Given the description of an element on the screen output the (x, y) to click on. 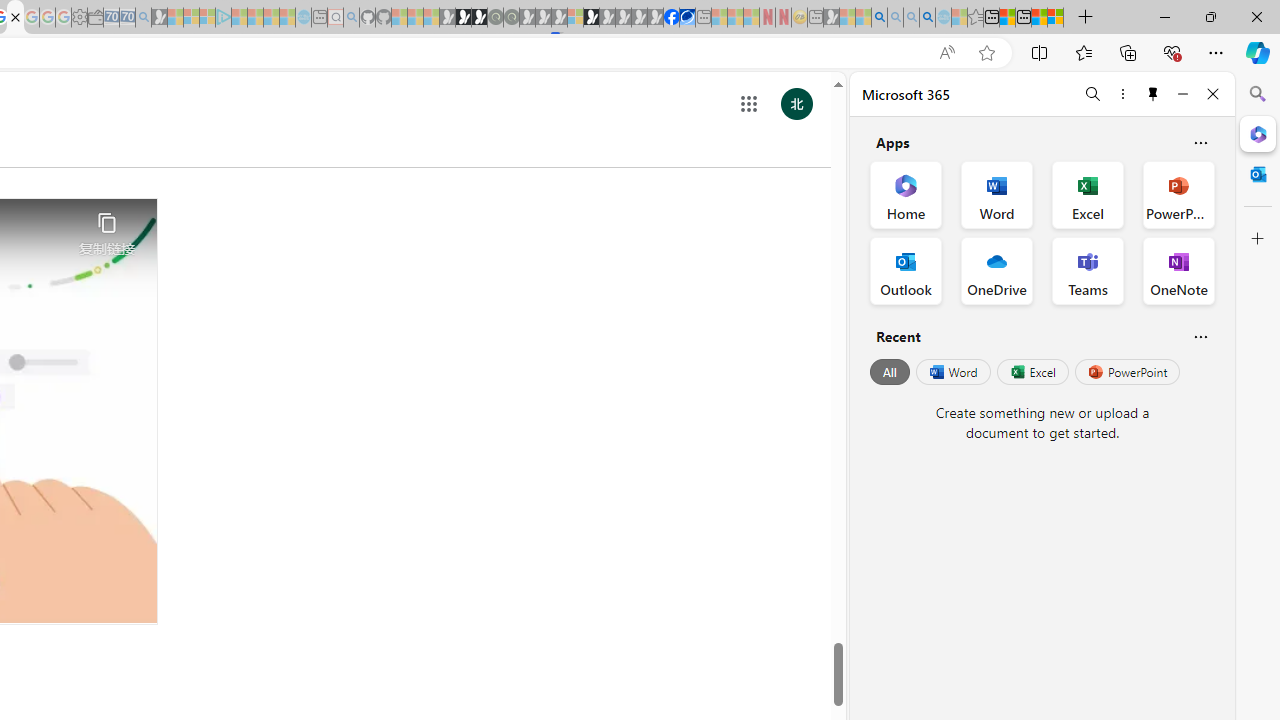
Google Chrome Internet Browser Download - Search Images (927, 17)
AirNow.gov (687, 17)
Excel (1031, 372)
